Given the description of an element on the screen output the (x, y) to click on. 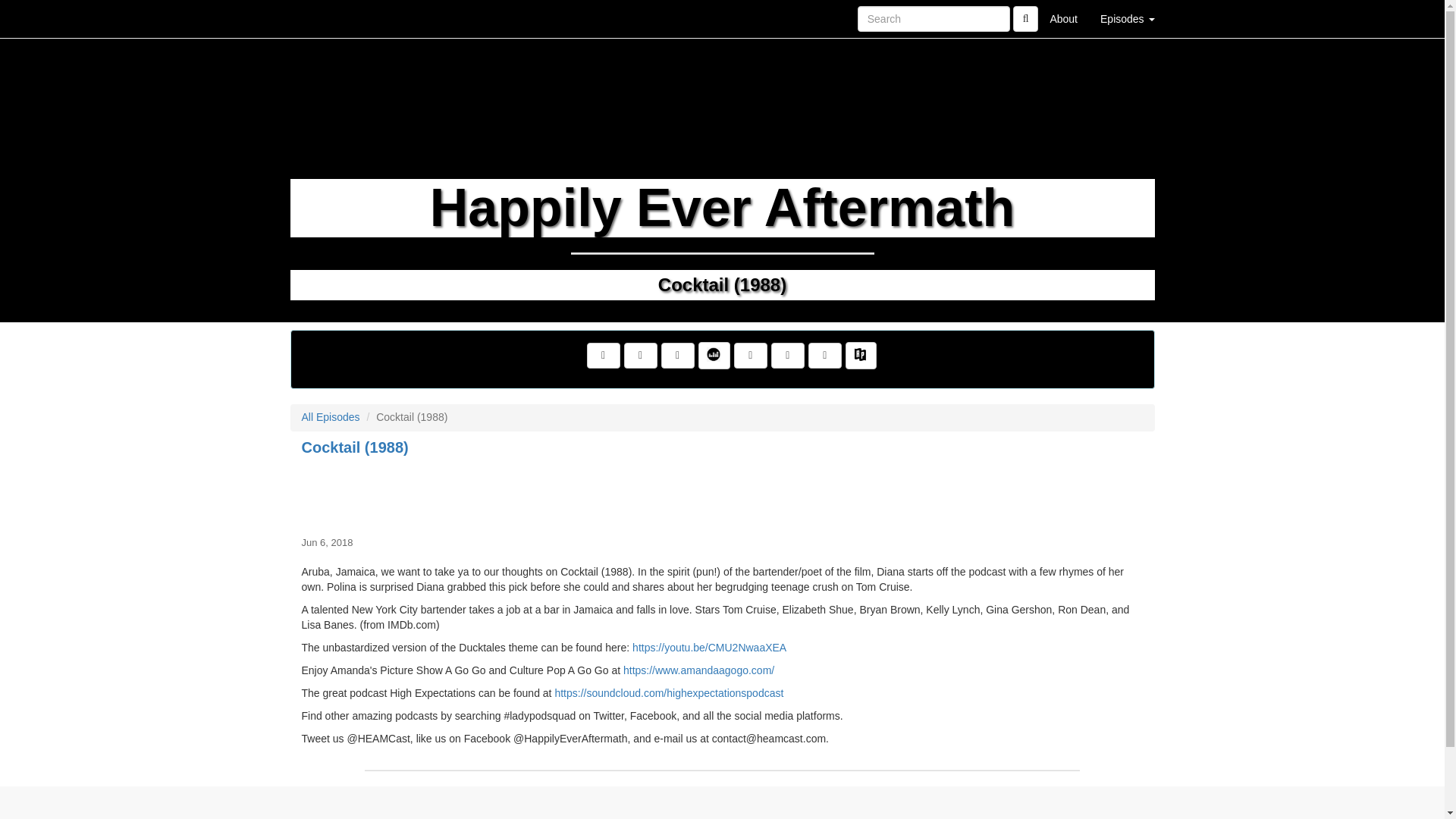
Home Page (320, 18)
About (1063, 18)
Episodes (1127, 18)
